Given the description of an element on the screen output the (x, y) to click on. 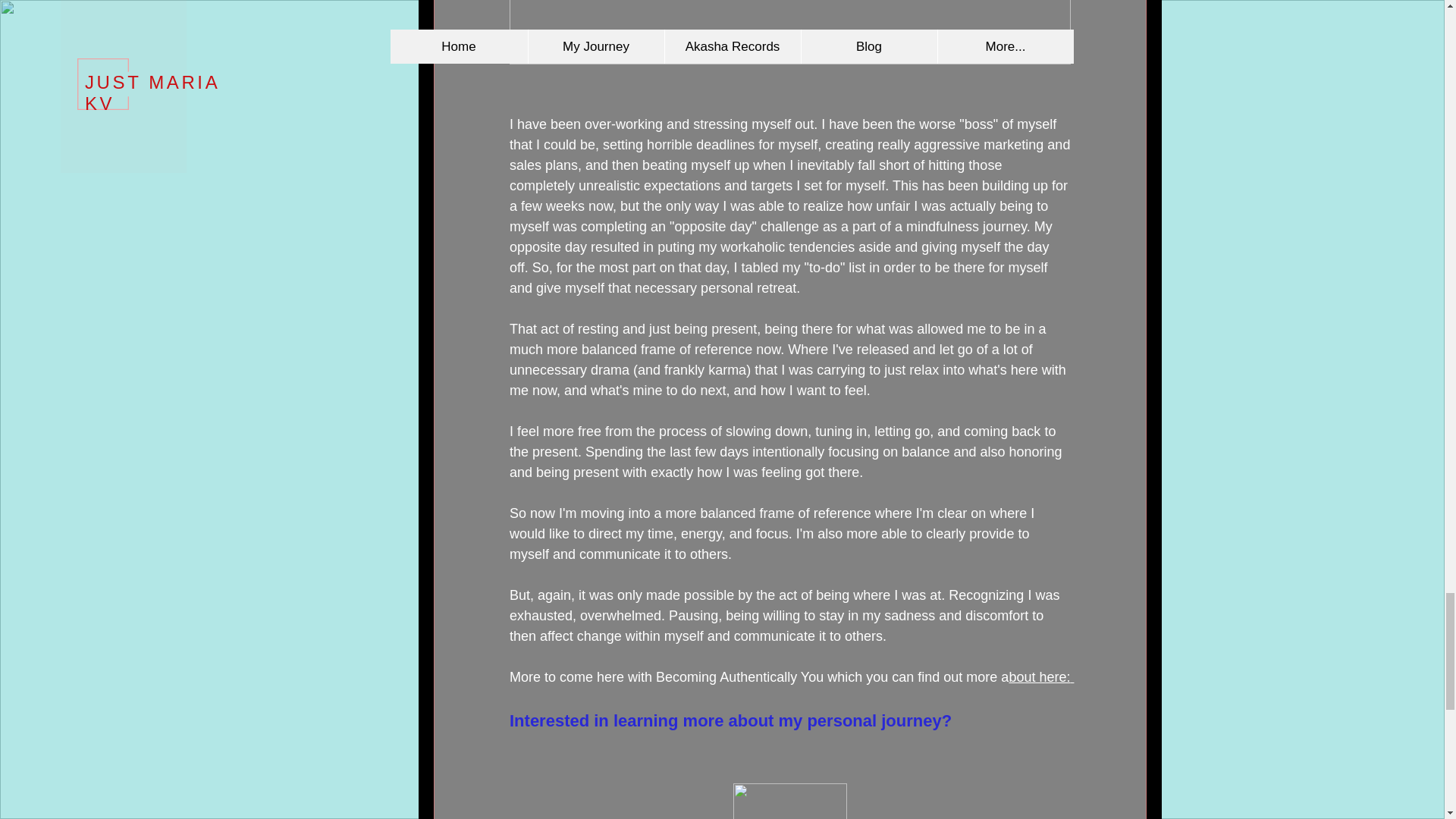
bout here:  (1041, 676)
